Given the description of an element on the screen output the (x, y) to click on. 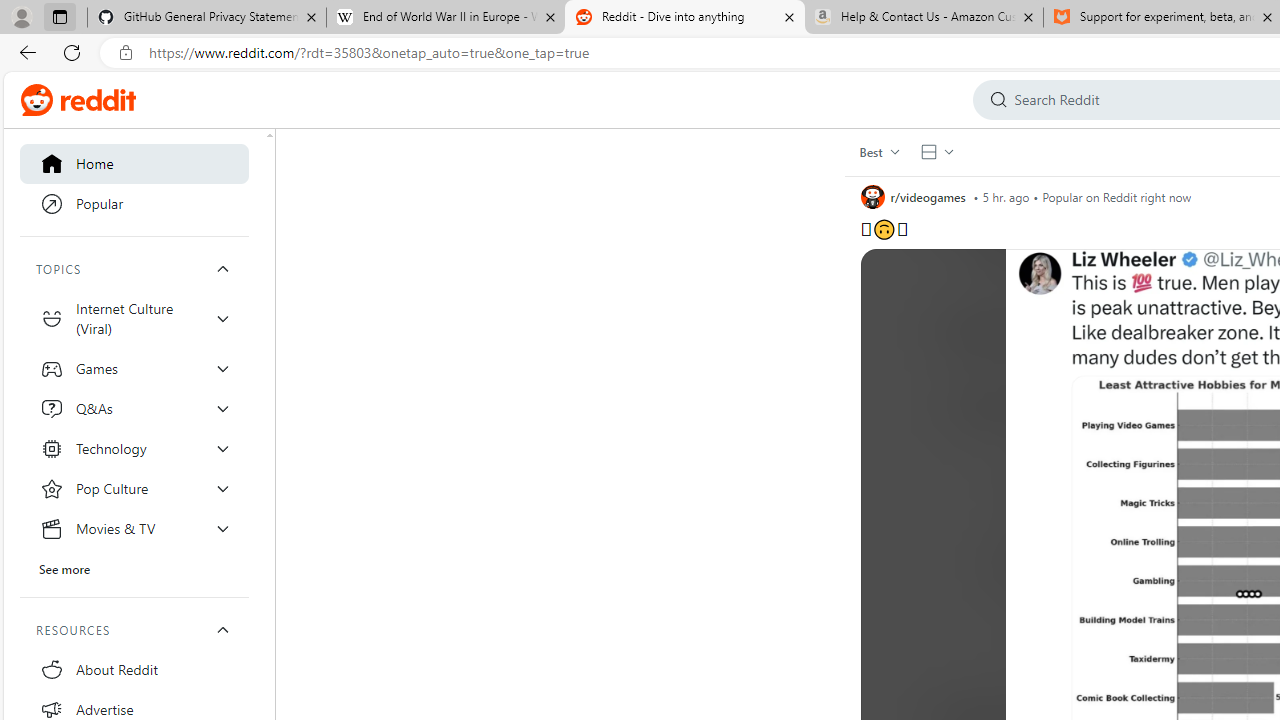
Internet Culture (Viral) (134, 318)
Pop Culture (134, 488)
r/videogames icon r/videogames (913, 196)
Class: h-[22px] (98, 99)
Help & Contact Us - Amazon Customer Service - Sleeping (924, 17)
Q&As (134, 408)
TOPICS (134, 268)
View:  (935, 151)
About Reddit (134, 669)
Sort by: Best (878, 151)
